Given the description of an element on the screen output the (x, y) to click on. 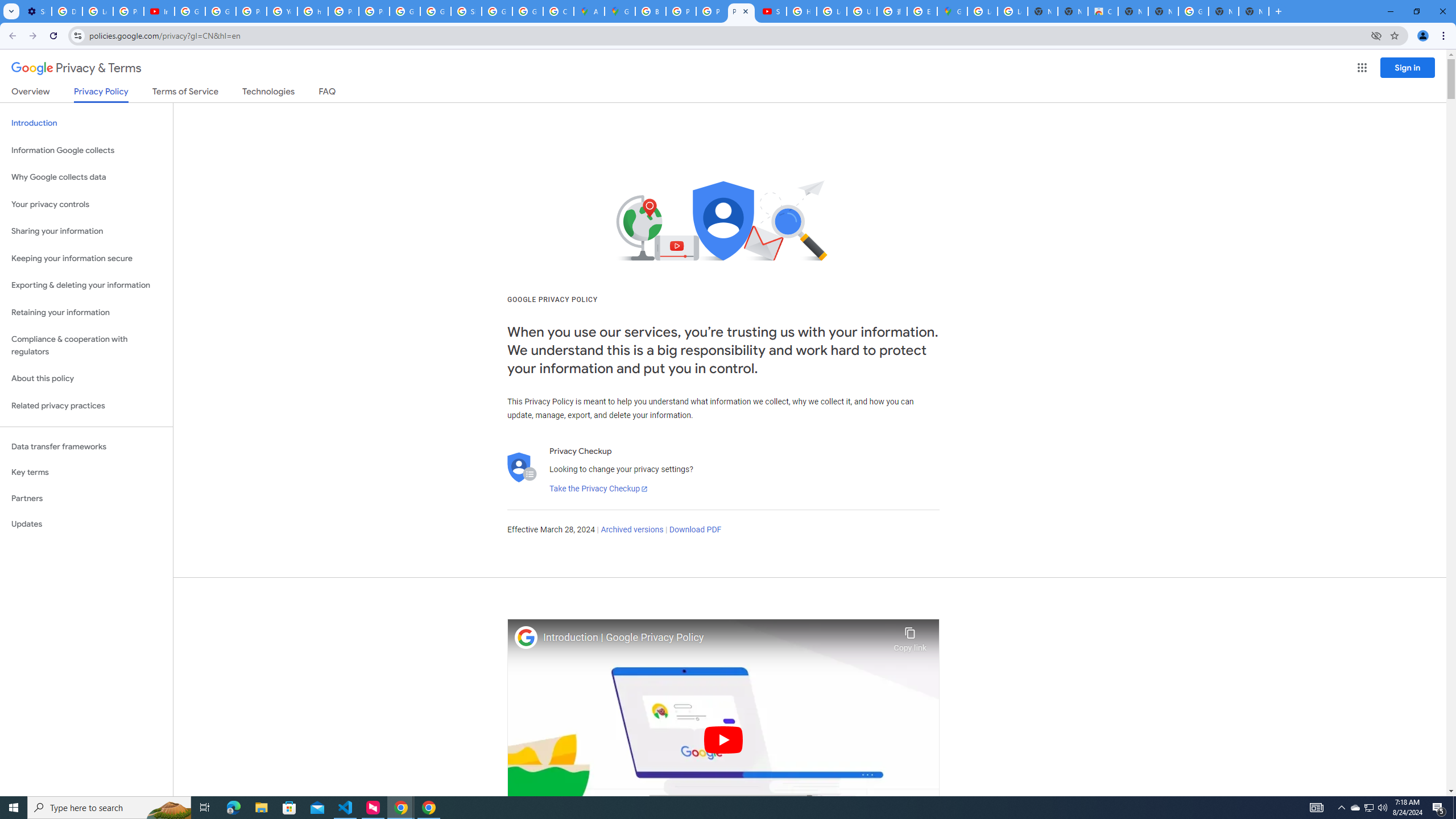
Sharing your information (86, 230)
Your privacy controls (86, 204)
Photo image of Google (526, 636)
Download PDF (695, 529)
Exporting & deleting your information (86, 284)
